Given the description of an element on the screen output the (x, y) to click on. 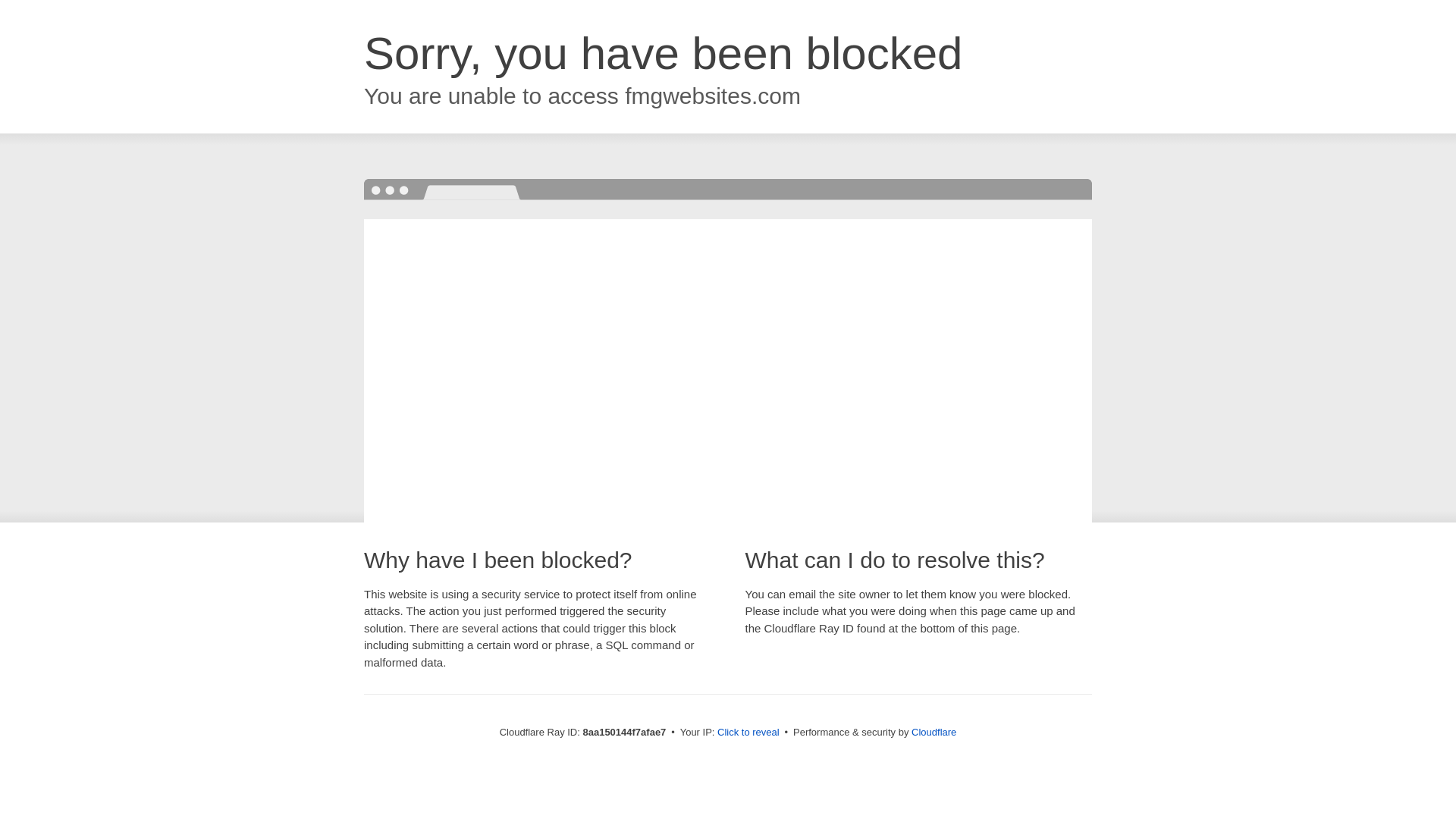
Click to reveal (747, 732)
Cloudflare (933, 731)
